Given the description of an element on the screen output the (x, y) to click on. 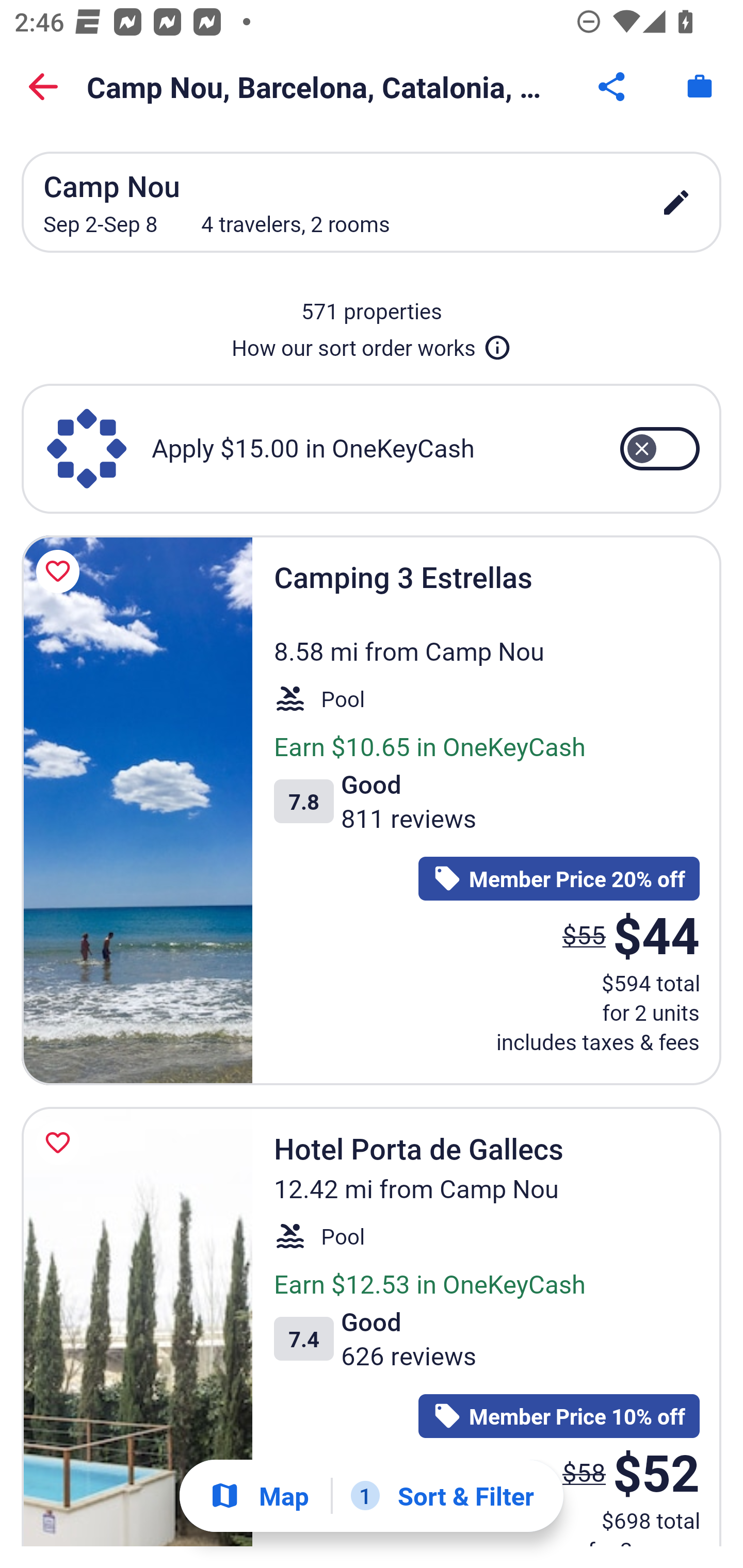
Back (43, 86)
Share Button (612, 86)
Trips. Button (699, 86)
Camp Nou Sep 2-Sep 8 4 travelers, 2 rooms edit (371, 202)
How our sort order works (371, 344)
Save Camping 3 Estrellas to a trip (61, 571)
Camping 3 Estrellas (136, 809)
$55 The price was $55 (583, 934)
Save Hotel Porta de Gallecs to a trip (61, 1142)
Hotel Porta de Gallecs (136, 1326)
$58 The price was $58 (583, 1471)
1 Sort & Filter 1 Filter applied. Filters Button (442, 1495)
Show map Map Show map Button (258, 1495)
